Given the description of an element on the screen output the (x, y) to click on. 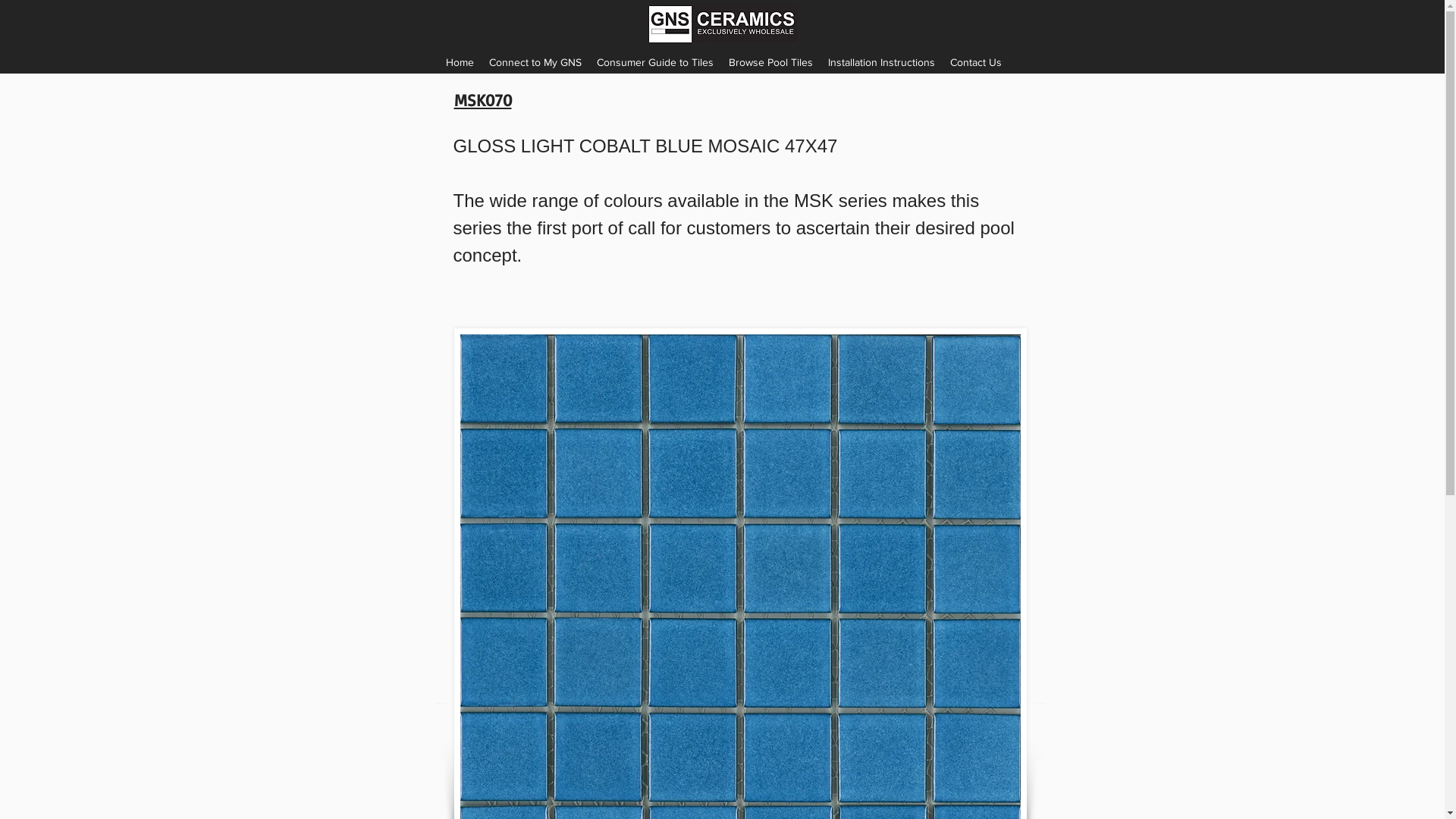
Contact Us Element type: text (975, 62)
Home Element type: text (459, 62)
Consumer Guide to Tiles Element type: text (655, 62)
Connect to My GNS Element type: text (535, 62)
Browse Pool Tiles Element type: text (770, 62)
Exclusively Wholesale Element type: hover (723, 24)
